Given the description of an element on the screen output the (x, y) to click on. 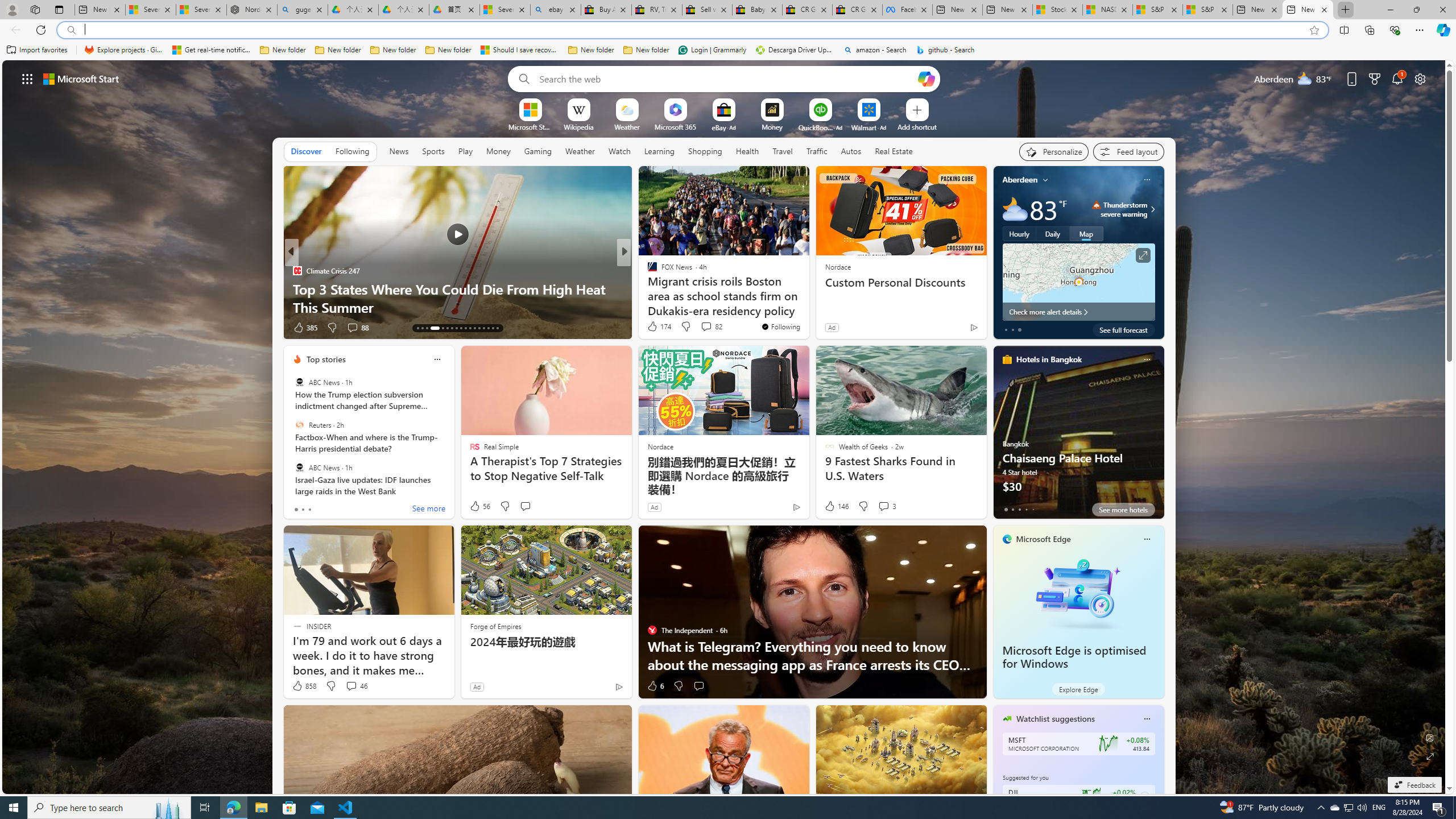
Baby Keepsakes & Announcements for sale | eBay (757, 9)
Real Estate (893, 151)
amazon - Search (875, 49)
4-year-old accidentally shatters Bronze Age jar at museum (807, 298)
News (398, 151)
AutomationID: tab-23 (470, 328)
Komando (647, 288)
Health (746, 151)
Explore Edge (1078, 689)
Microsoft Edge (1043, 538)
